Given the description of an element on the screen output the (x, y) to click on. 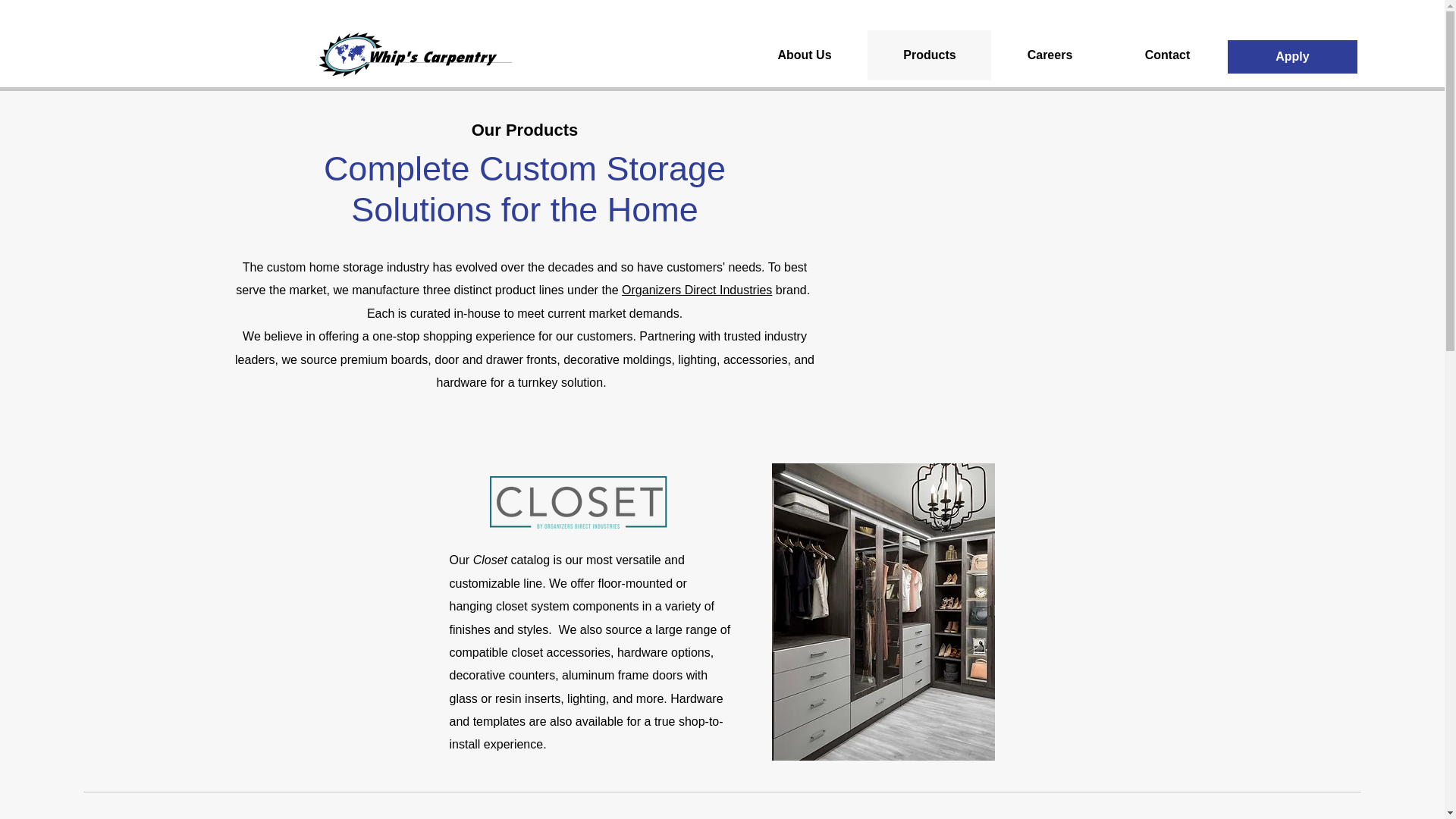
About Us (804, 55)
Careers (1049, 55)
Organizers Direct Industries (696, 289)
Contact (1166, 55)
Apply (1292, 56)
Products (929, 55)
